Given the description of an element on the screen output the (x, y) to click on. 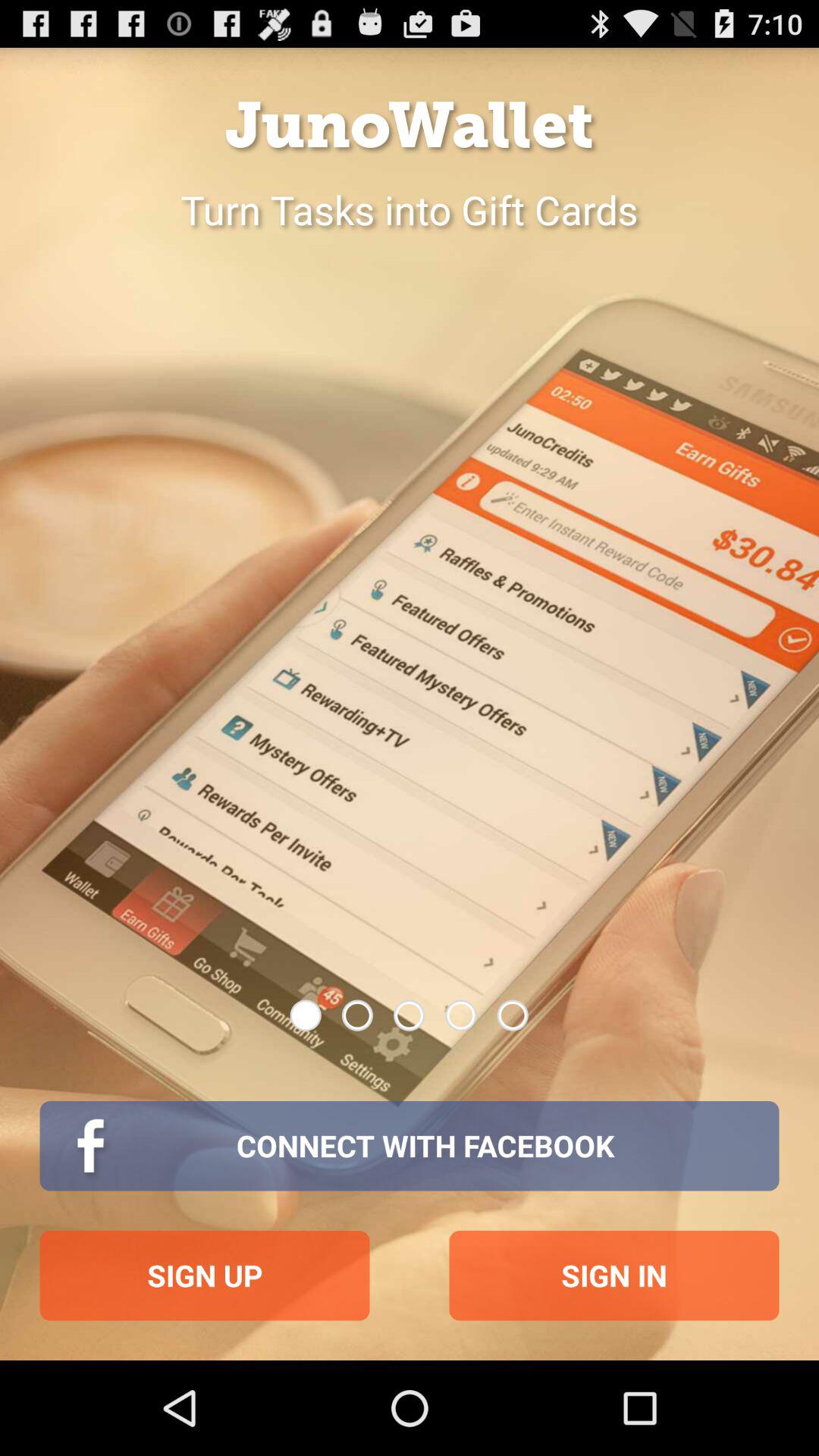
launch sign up (204, 1275)
